Given the description of an element on the screen output the (x, y) to click on. 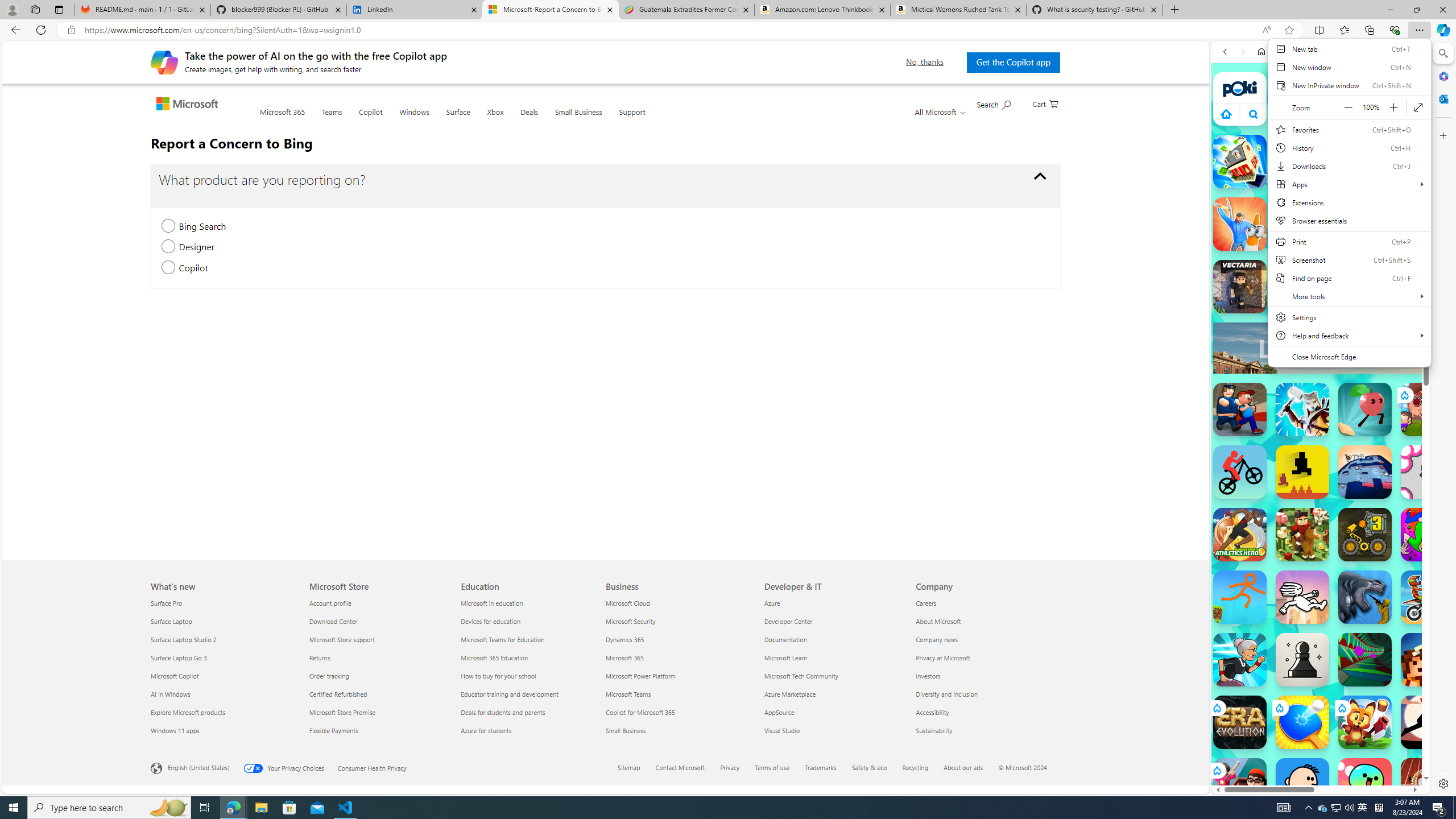
Create images, get help with writing, and search faster (164, 62)
Vectaria.io (1239, 286)
JollyWorld JollyWorld (1427, 534)
Level Devil Level Devil (1302, 471)
poki.com (1322, 51)
Microsoft Cloud (678, 602)
Surface Laptop Studio 2 What's new (183, 638)
Surface Laptop Go 3 (223, 657)
Educator training and development Education (509, 693)
Trademarks (821, 766)
Surface Pro What's new (166, 602)
Teams (331, 118)
Investors (984, 675)
